Given the description of an element on the screen output the (x, y) to click on. 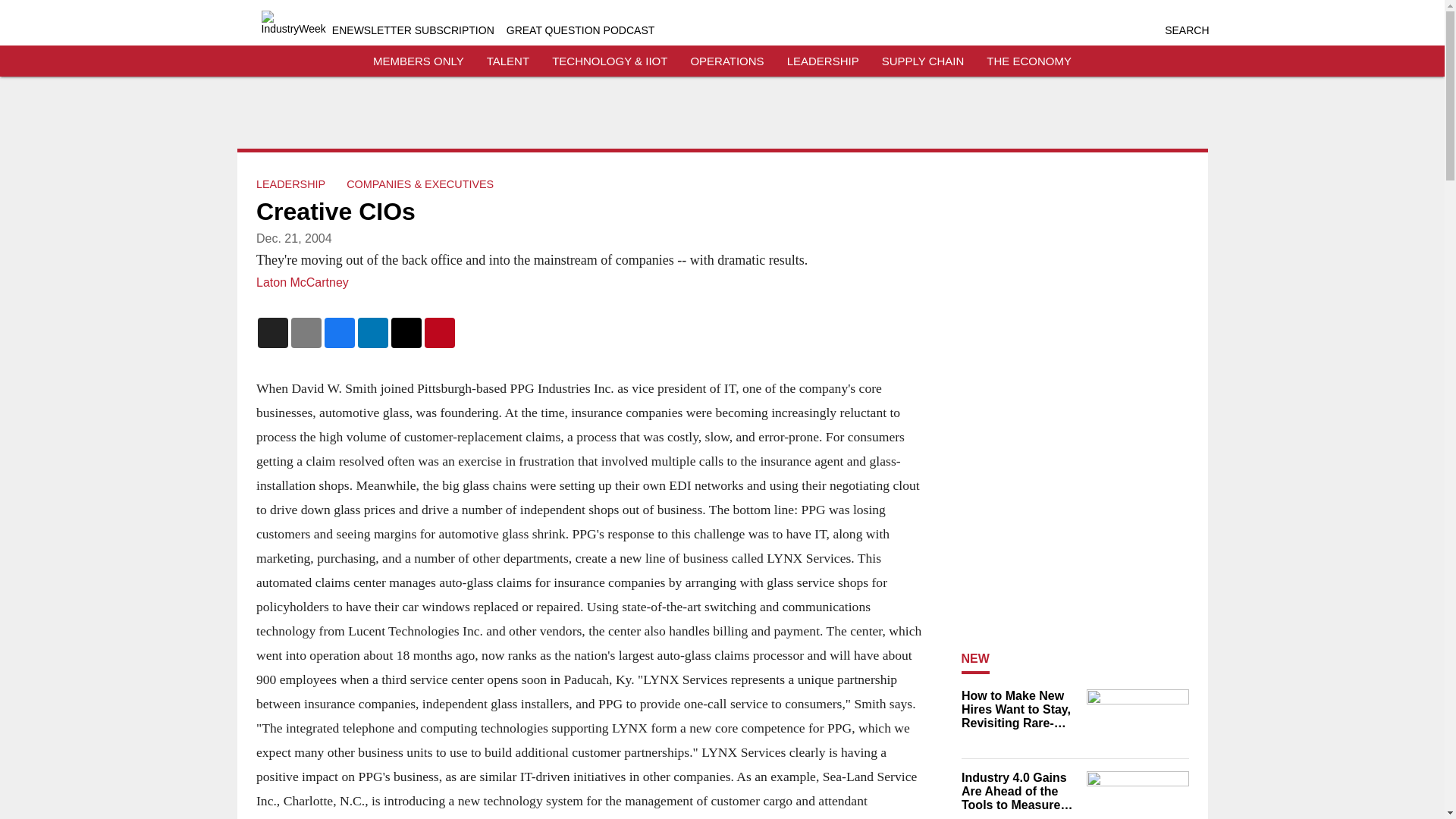
Industry 4.0 Gains Are Ahead of the Tools to Measure Them (1019, 791)
Laton McCartney (302, 282)
TALENT (507, 60)
ENEWSLETTER SUBSCRIPTION (413, 30)
LEADERSHIP (823, 60)
MEMBERS ONLY (418, 60)
LEADERSHIP (290, 184)
THE ECONOMY (1029, 60)
SUPPLY CHAIN (922, 60)
OPERATIONS (726, 60)
GREAT QUESTION PODCAST (580, 30)
SEARCH (1186, 30)
